Given the description of an element on the screen output the (x, y) to click on. 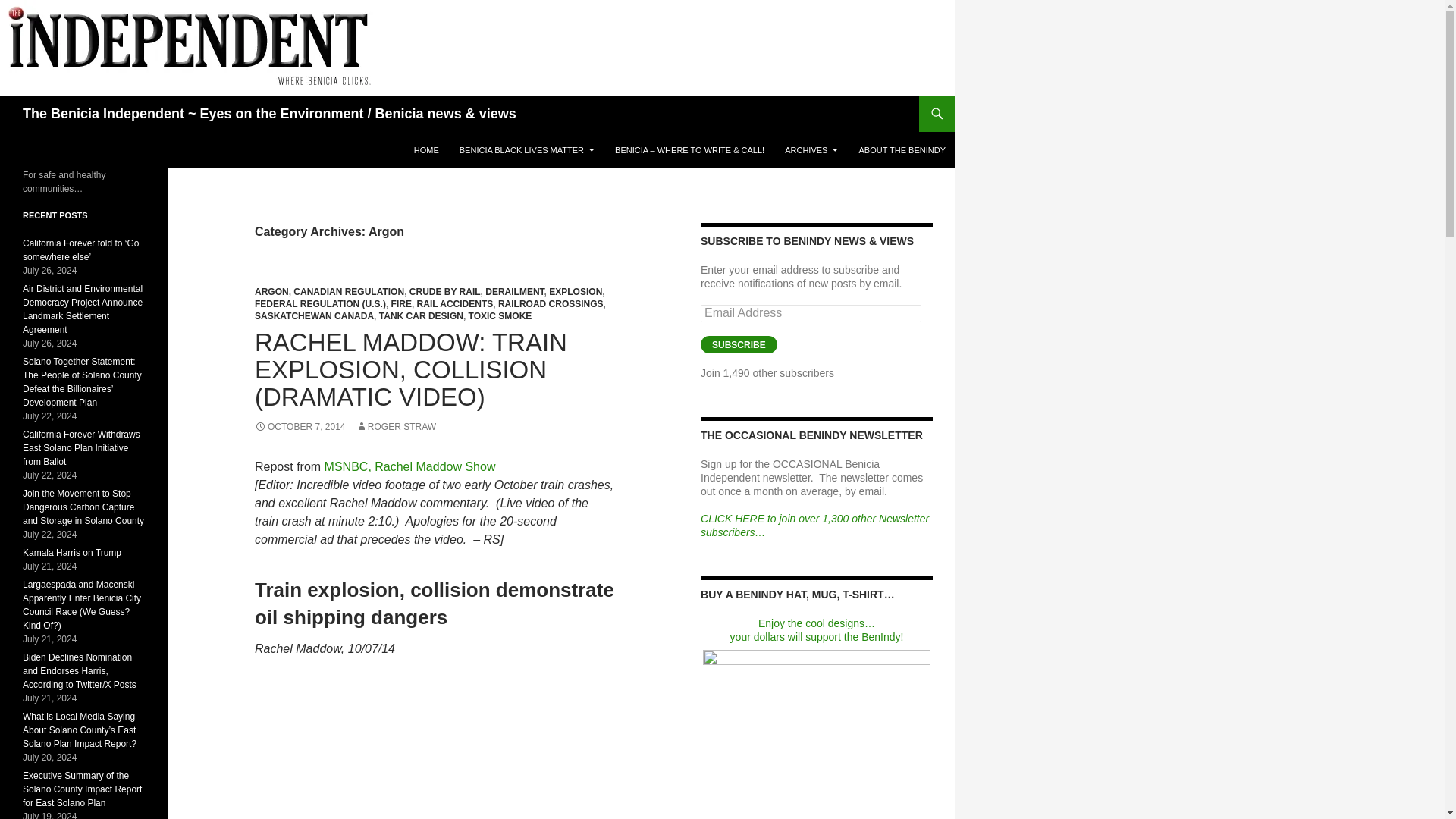
BENICIA BLACK LIVES MATTER (526, 149)
HOME (426, 149)
ARCHIVES (811, 149)
